Given the description of an element on the screen output the (x, y) to click on. 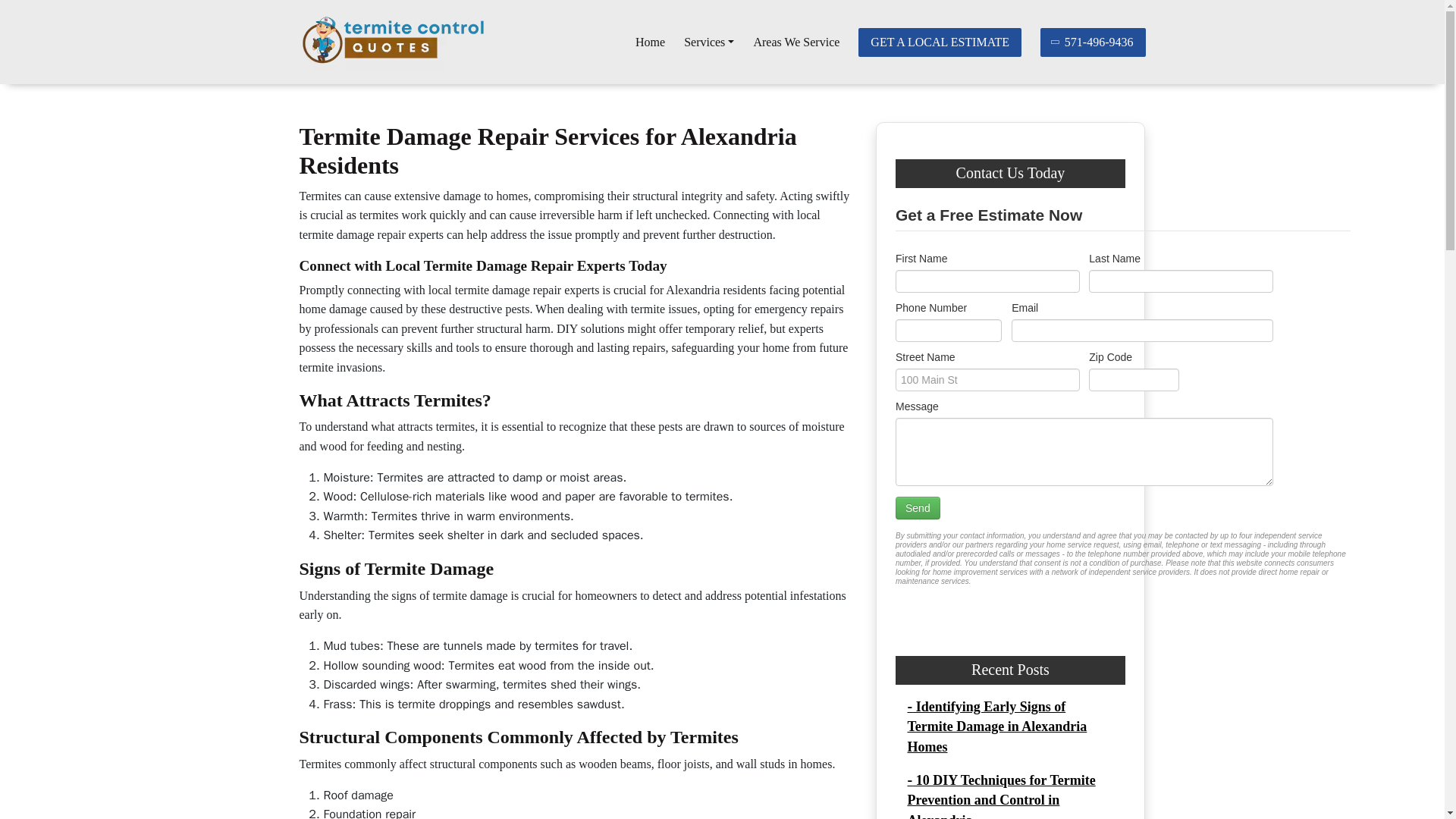
Services (708, 42)
571-496-9436 (1093, 41)
Home (649, 42)
GET A LOCAL ESTIMATE (940, 41)
Areas We Service (796, 42)
Services (708, 42)
Areas We Service (796, 42)
Home (649, 42)
